Given the description of an element on the screen output the (x, y) to click on. 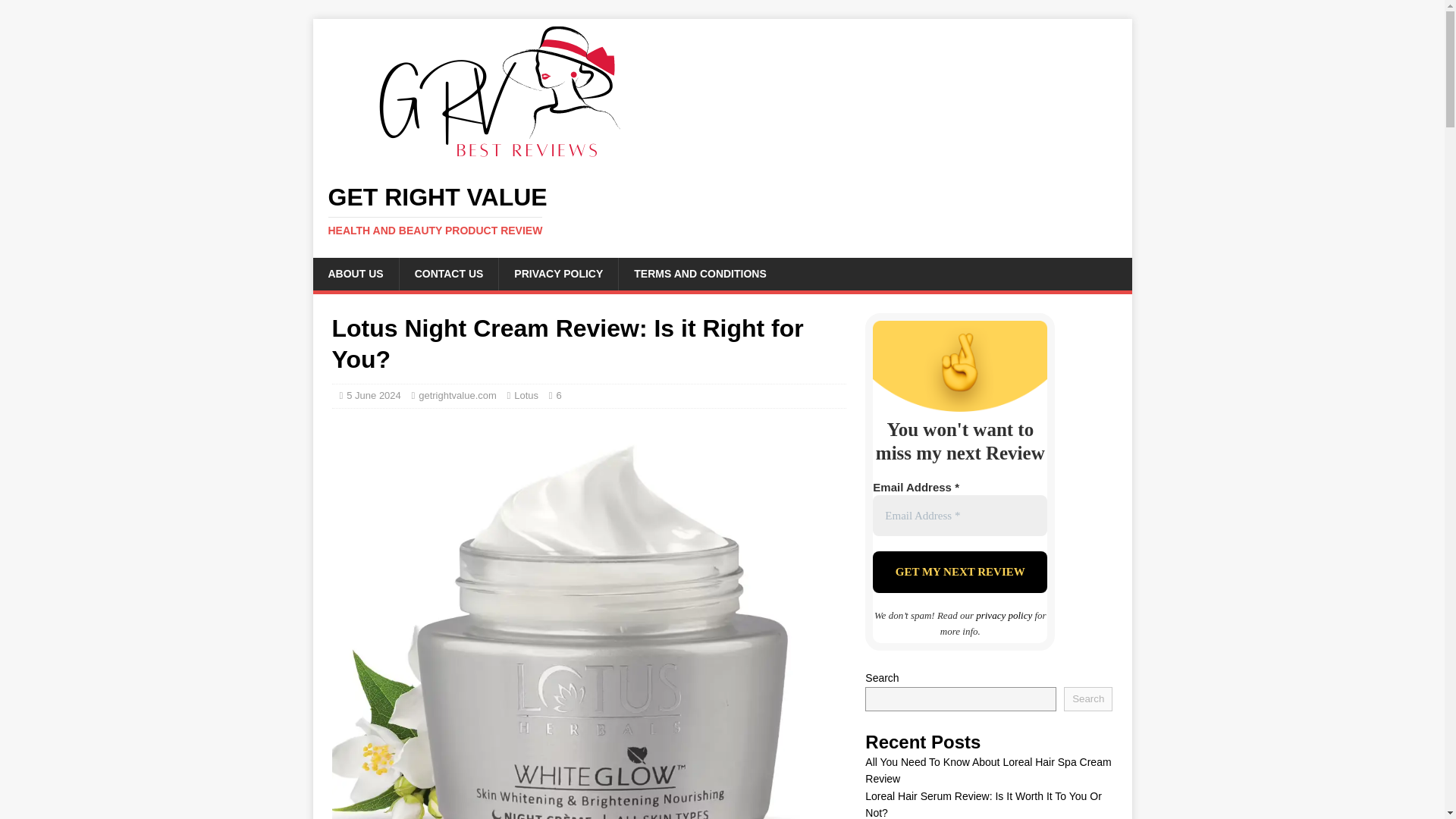
Get Right Value (721, 210)
ABOUT US (355, 273)
Lotus (525, 395)
6 (558, 395)
5 June 2024 (373, 395)
Email Address (959, 516)
PRIVACY POLICY (557, 273)
TERMS AND CONDITIONS (698, 273)
GET MY NEXT REVIEW (959, 571)
CONTACT US (448, 273)
getrightvalue.com (457, 395)
6 (721, 210)
Get Right Value (558, 395)
